Given the description of an element on the screen output the (x, y) to click on. 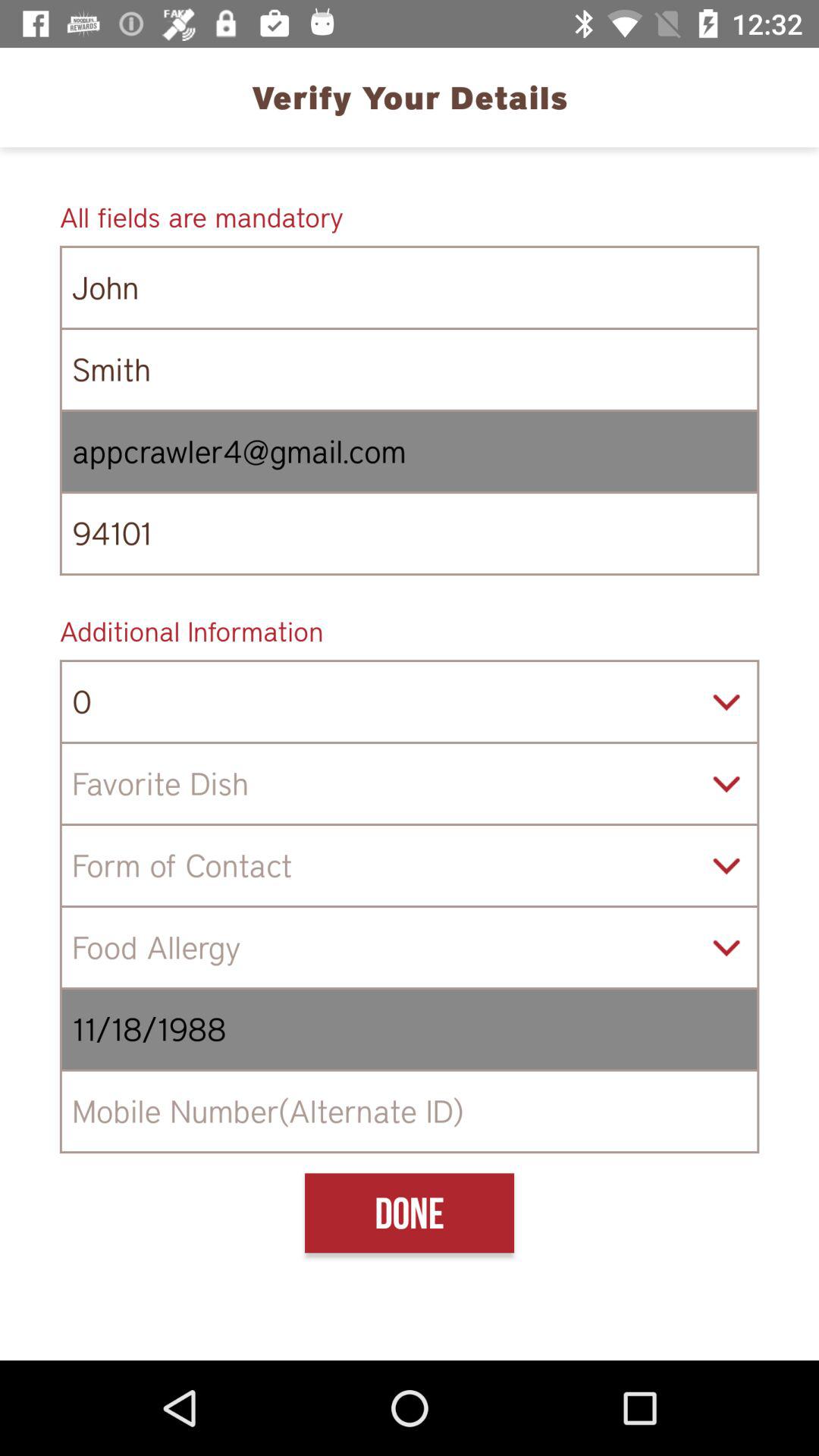
turn on the item above additional information icon (409, 533)
